Given the description of an element on the screen output the (x, y) to click on. 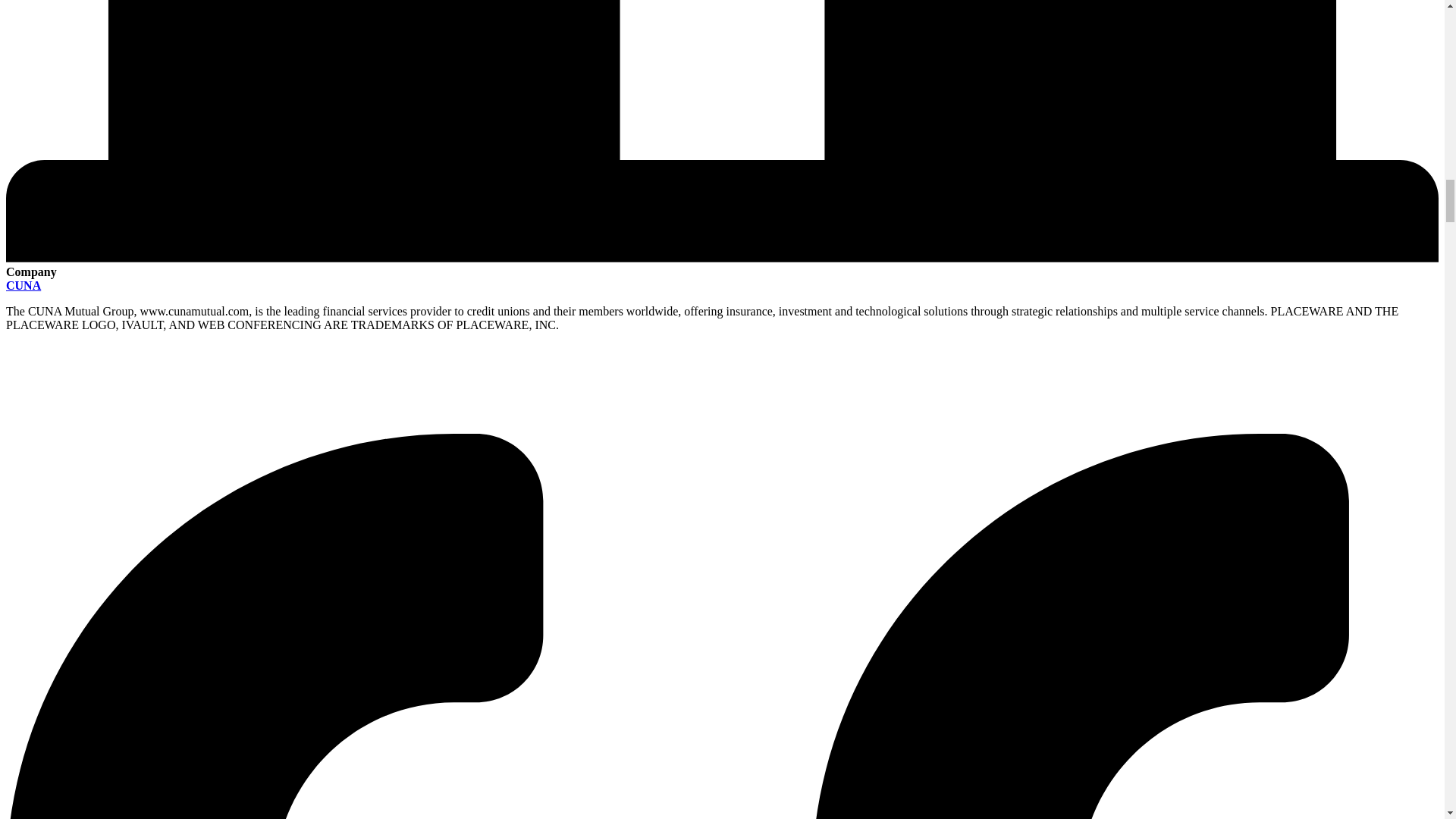
CUNA (22, 285)
